Given the description of an element on the screen output the (x, y) to click on. 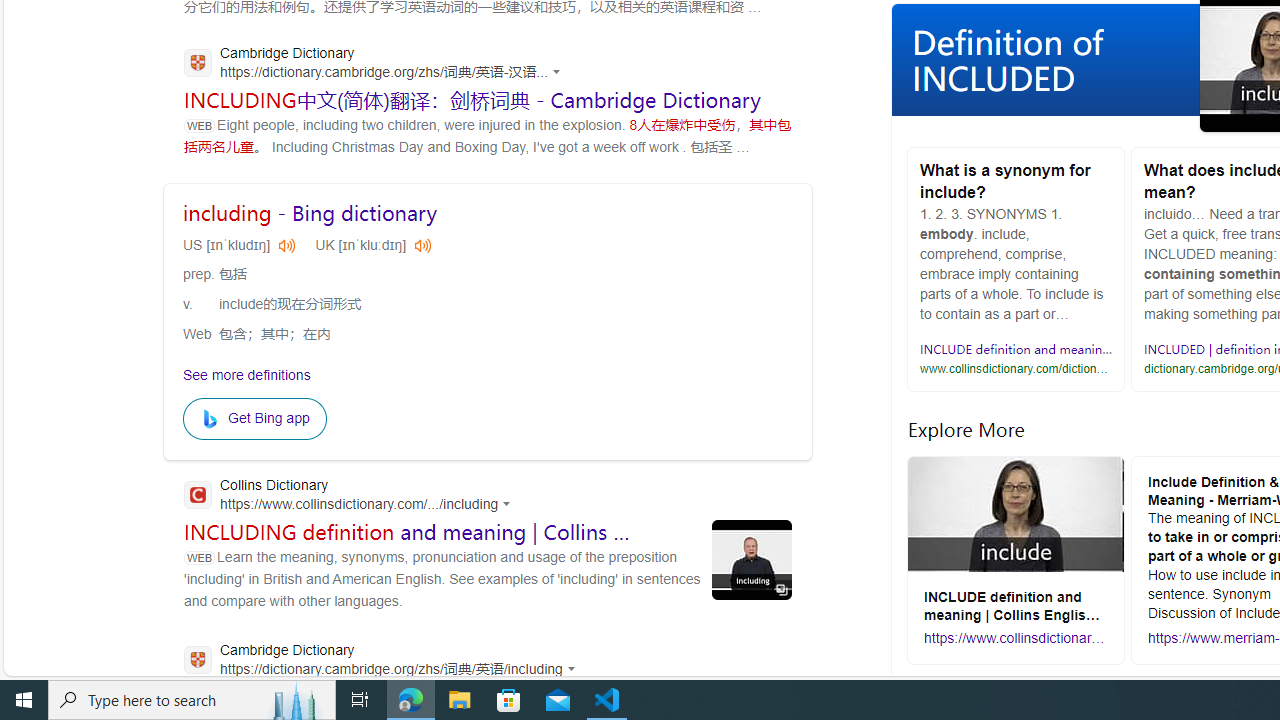
Cambridge Dictionary (385, 661)
Global web icon (197, 659)
Class: dictIcon rms_img (423, 244)
Get Bing app (254, 417)
Actions for this site (573, 668)
To get missing image descriptions, open the context menu. (213, 418)
See more definitions (247, 374)
INCLUDE definition and meaning | Collins English (1061, 349)
Class: dict_pn_play (420, 244)
